Given the description of an element on the screen output the (x, y) to click on. 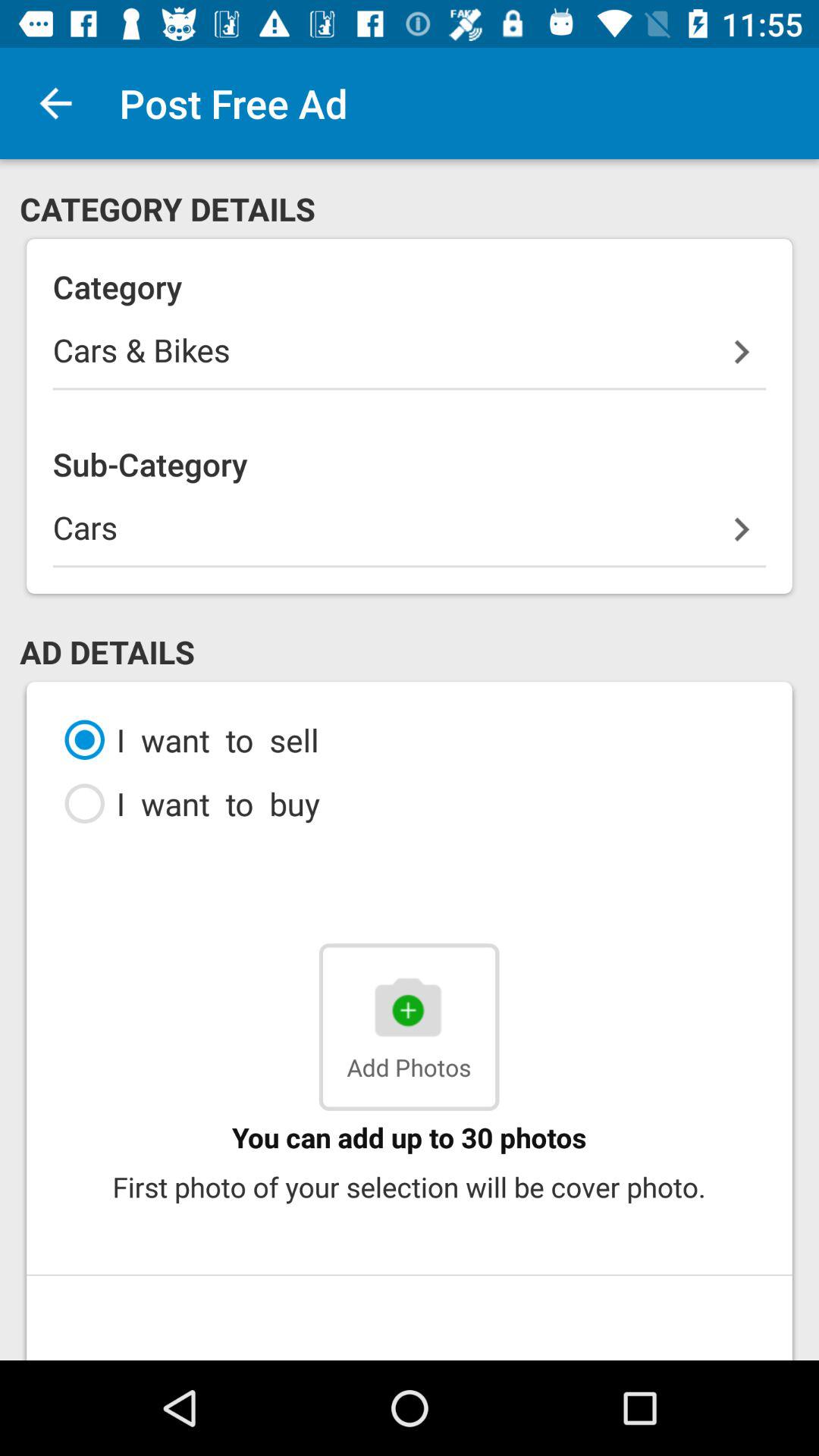
scroll until cars & bikes (409, 359)
